Given the description of an element on the screen output the (x, y) to click on. 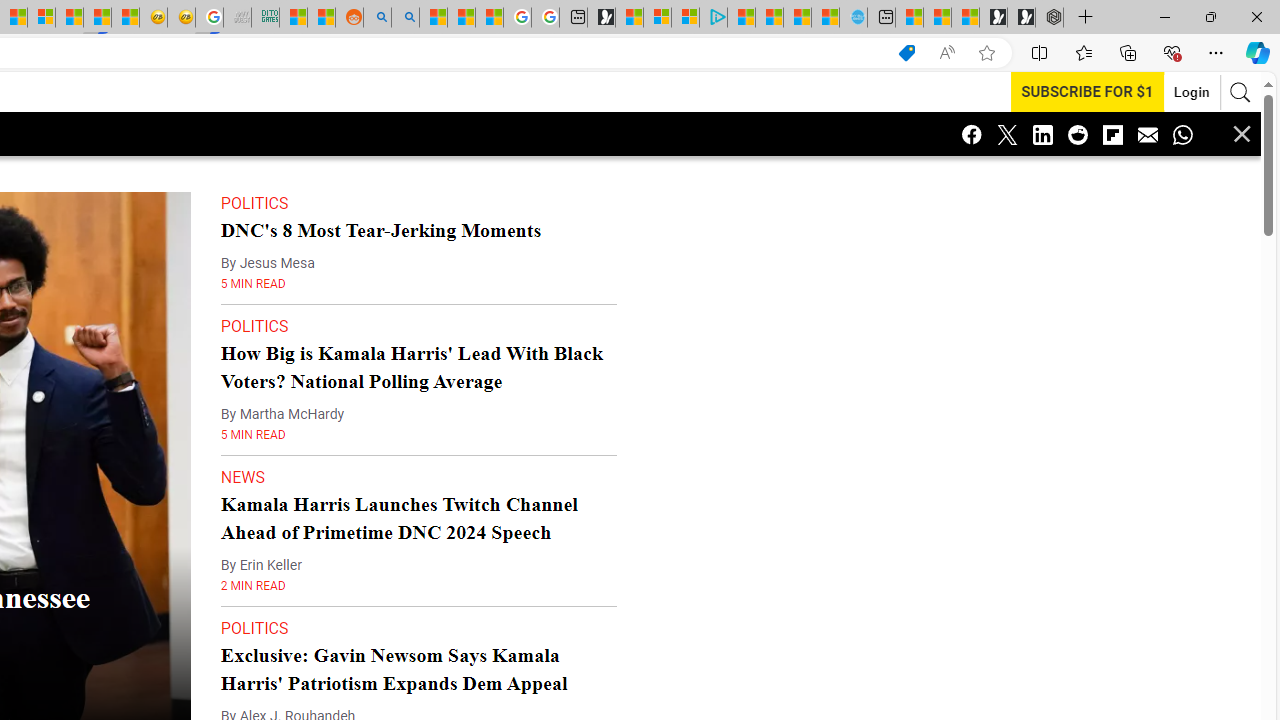
Microsoft account | Privacy (685, 17)
Play Free Online Games | Games from Microsoft Start (1021, 17)
Class: icon-whatsapp (1182, 133)
Shopping in Microsoft Edge (906, 53)
By Jesus Mesa (267, 223)
Utah sues federal government - Search (404, 17)
By Martha McHardy (282, 374)
Microsoft Start Gaming (601, 17)
